Given the description of an element on the screen output the (x, y) to click on. 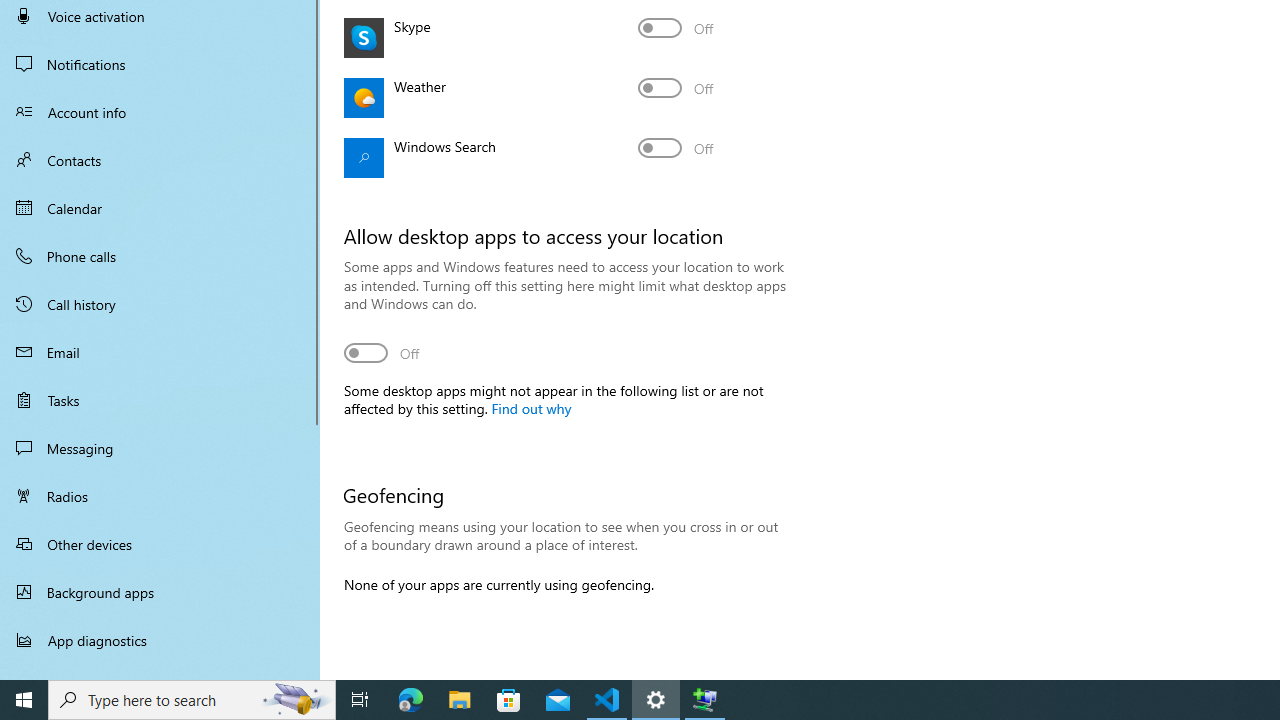
Account info (160, 111)
Weather (675, 87)
Extensible Wizards Host Process - 1 running window (704, 699)
Background apps (160, 592)
Messaging (160, 448)
Phone calls (160, 255)
Contacts (160, 160)
Call history (160, 304)
Allow desktop apps to access your location (381, 352)
